Given the description of an element on the screen output the (x, y) to click on. 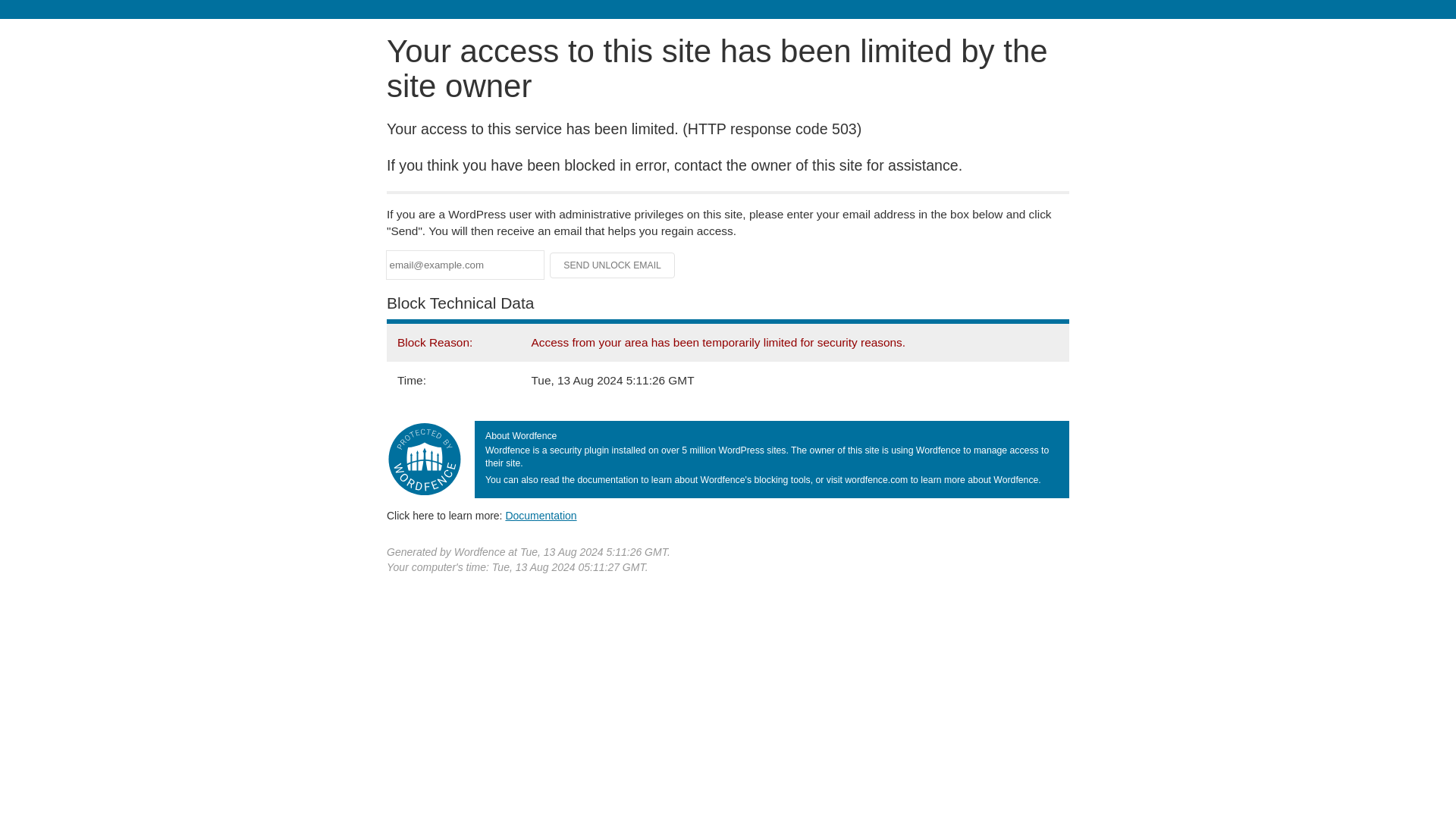
Documentation (540, 515)
Send Unlock Email (612, 265)
Send Unlock Email (612, 265)
